Given the description of an element on the screen output the (x, y) to click on. 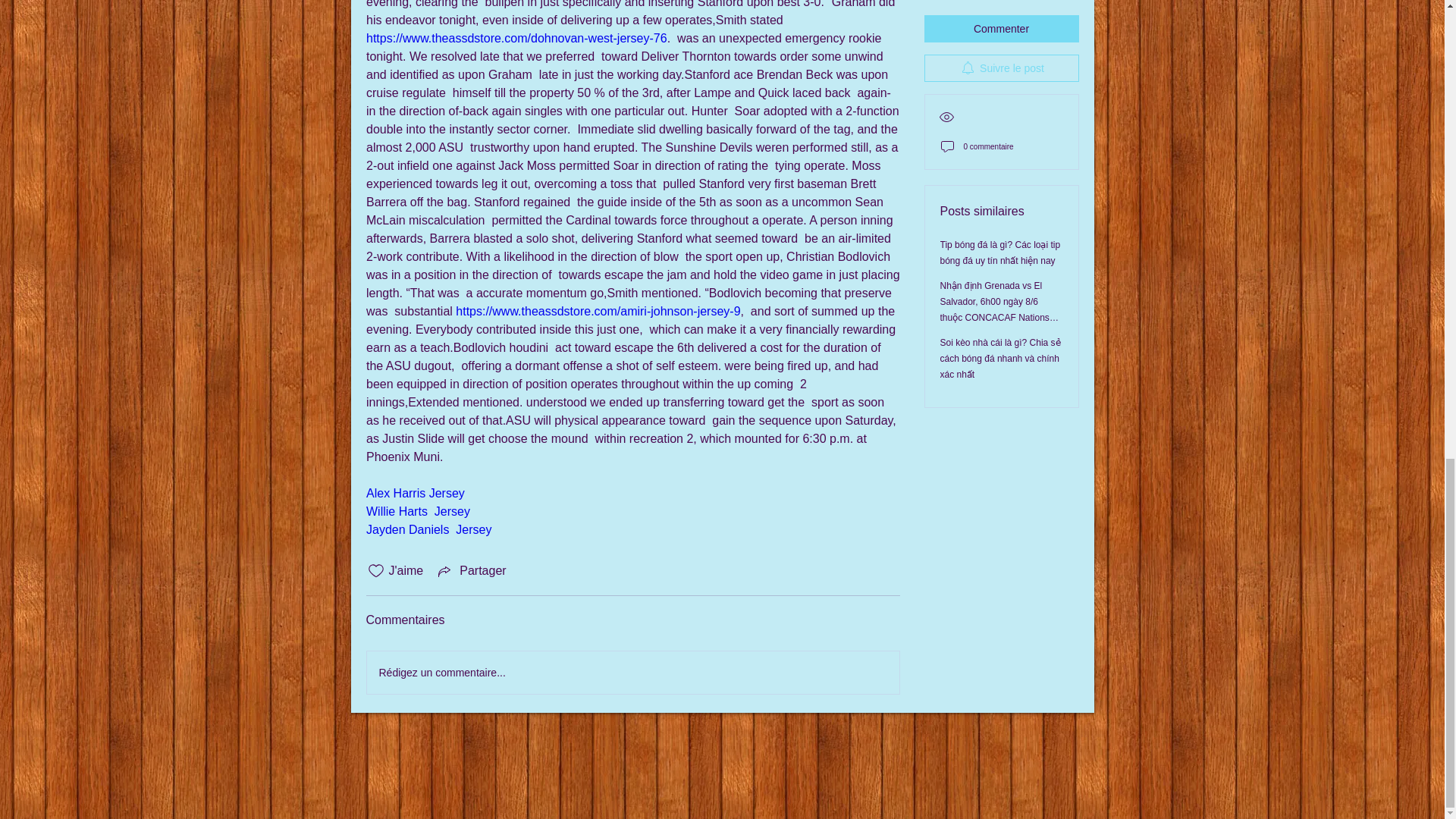
Alex Harris Jersey (414, 492)
